Given the description of an element on the screen output the (x, y) to click on. 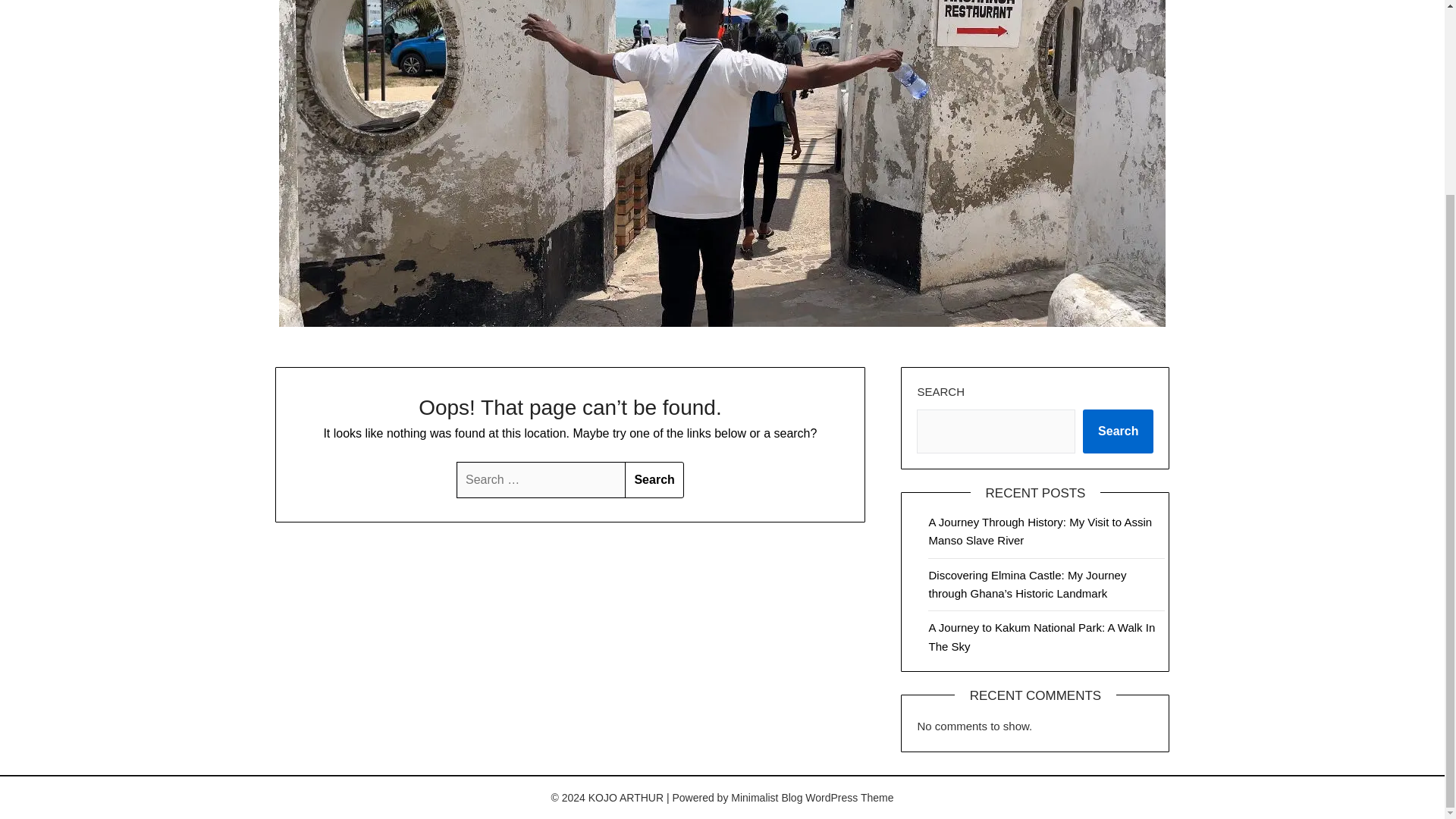
Search (653, 479)
Search (653, 479)
Minimalist Blog (766, 797)
Search (653, 479)
A Journey to Kakum National Park: A Walk In The Sky (1041, 635)
Search (1118, 431)
